Given the description of an element on the screen output the (x, y) to click on. 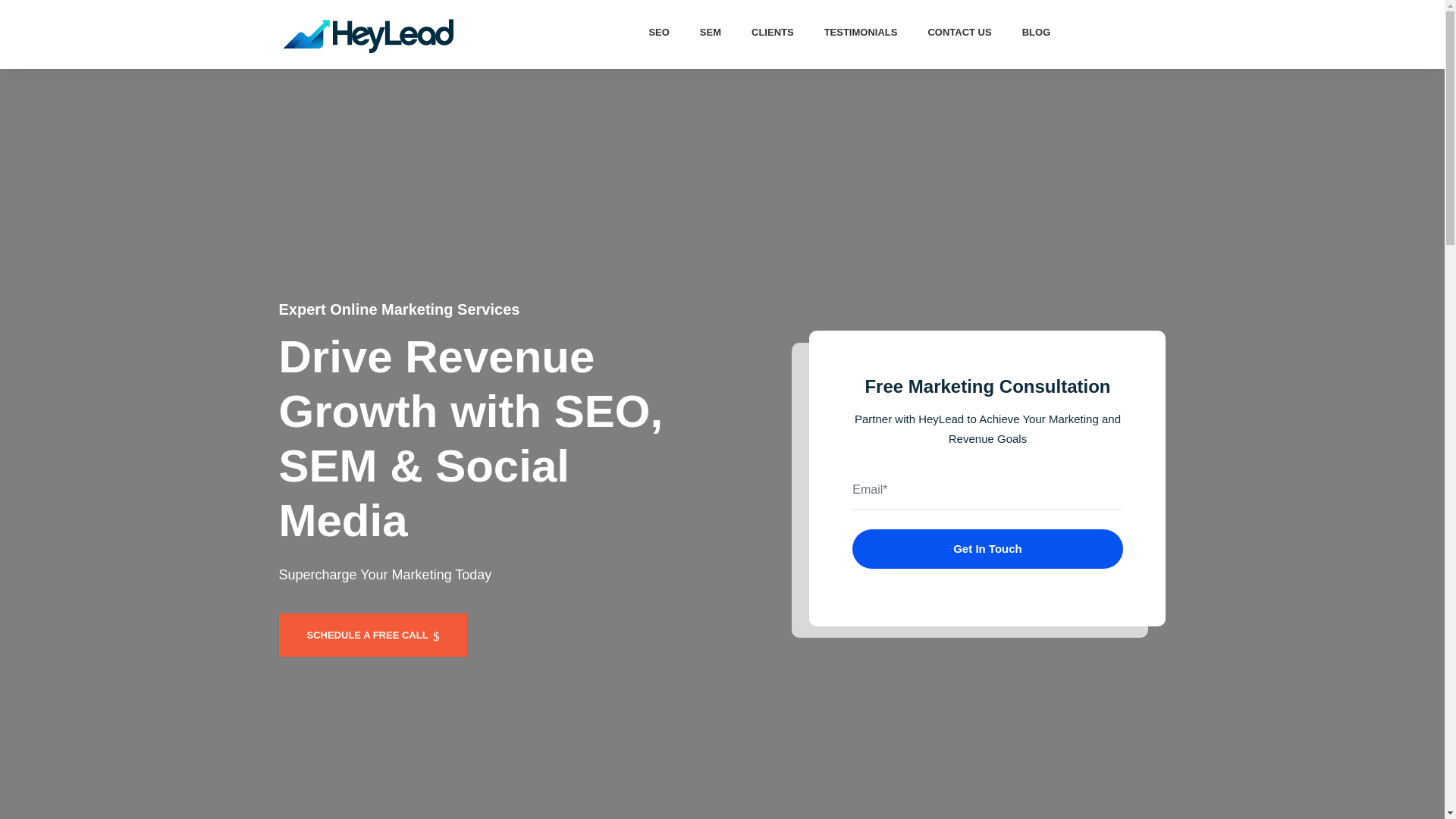
SEO (658, 32)
BLOG (1036, 32)
SEM (710, 32)
SCHEDULE A FREE CALL (373, 634)
Get In Touch (986, 548)
CONTACT US (959, 32)
TESTIMONIALS (860, 32)
CLIENTS (772, 32)
